Given the description of an element on the screen output the (x, y) to click on. 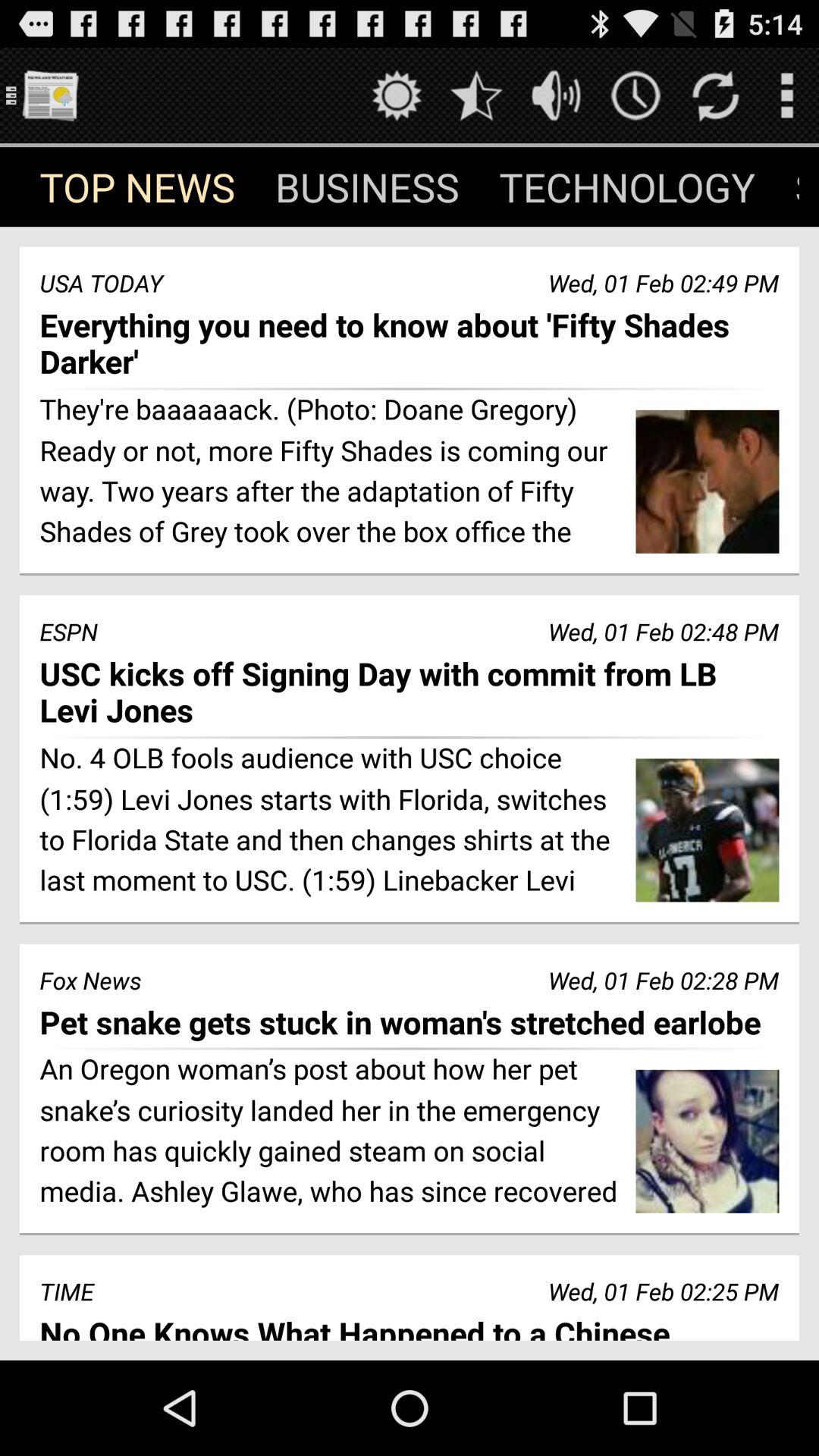
add to favorite (476, 95)
